Given the description of an element on the screen output the (x, y) to click on. 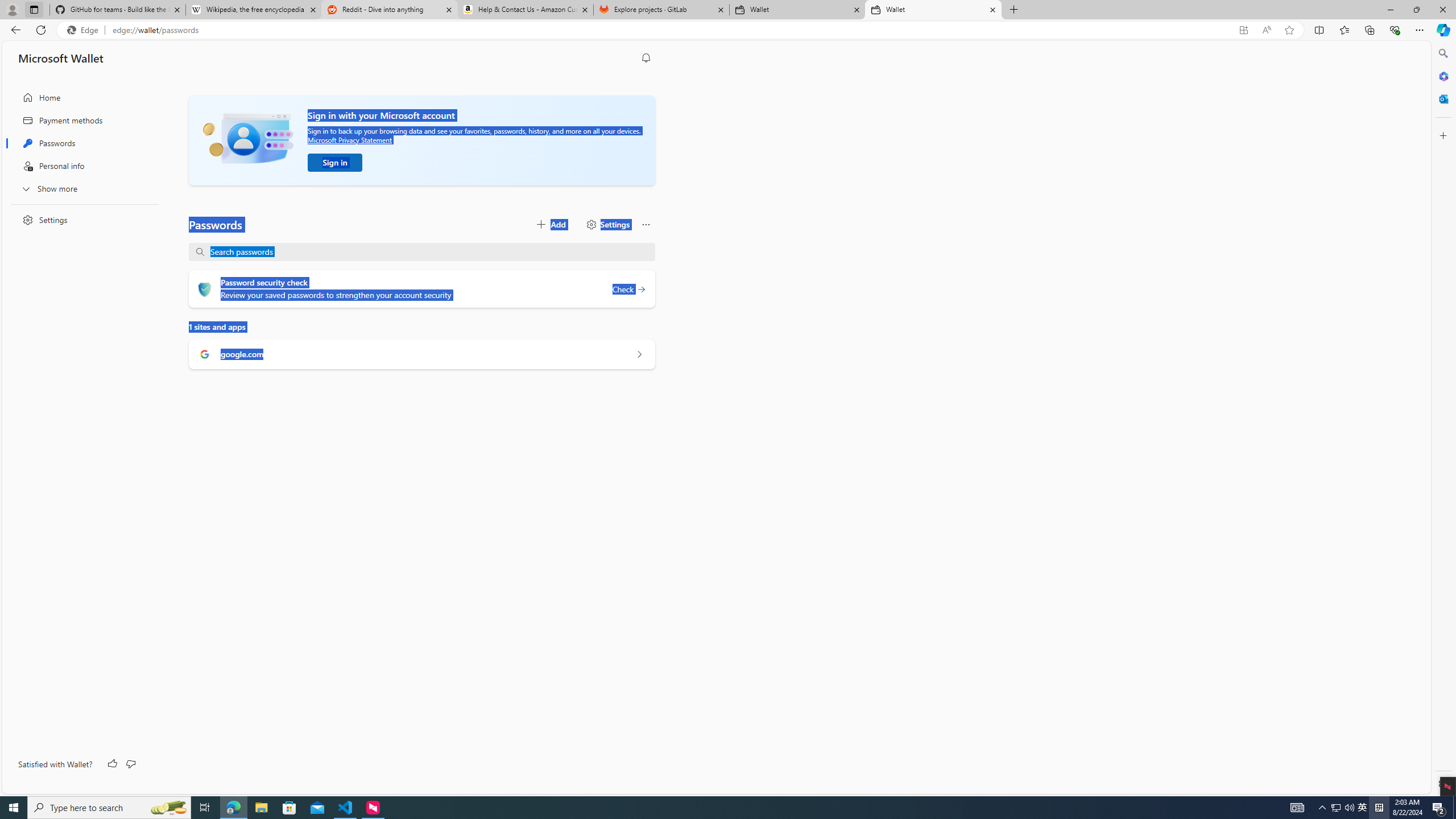
Personal info (81, 165)
Add (550, 224)
google.com (422, 354)
google.com, see details (638, 354)
Password security check, Check (628, 288)
